Given the description of an element on the screen output the (x, y) to click on. 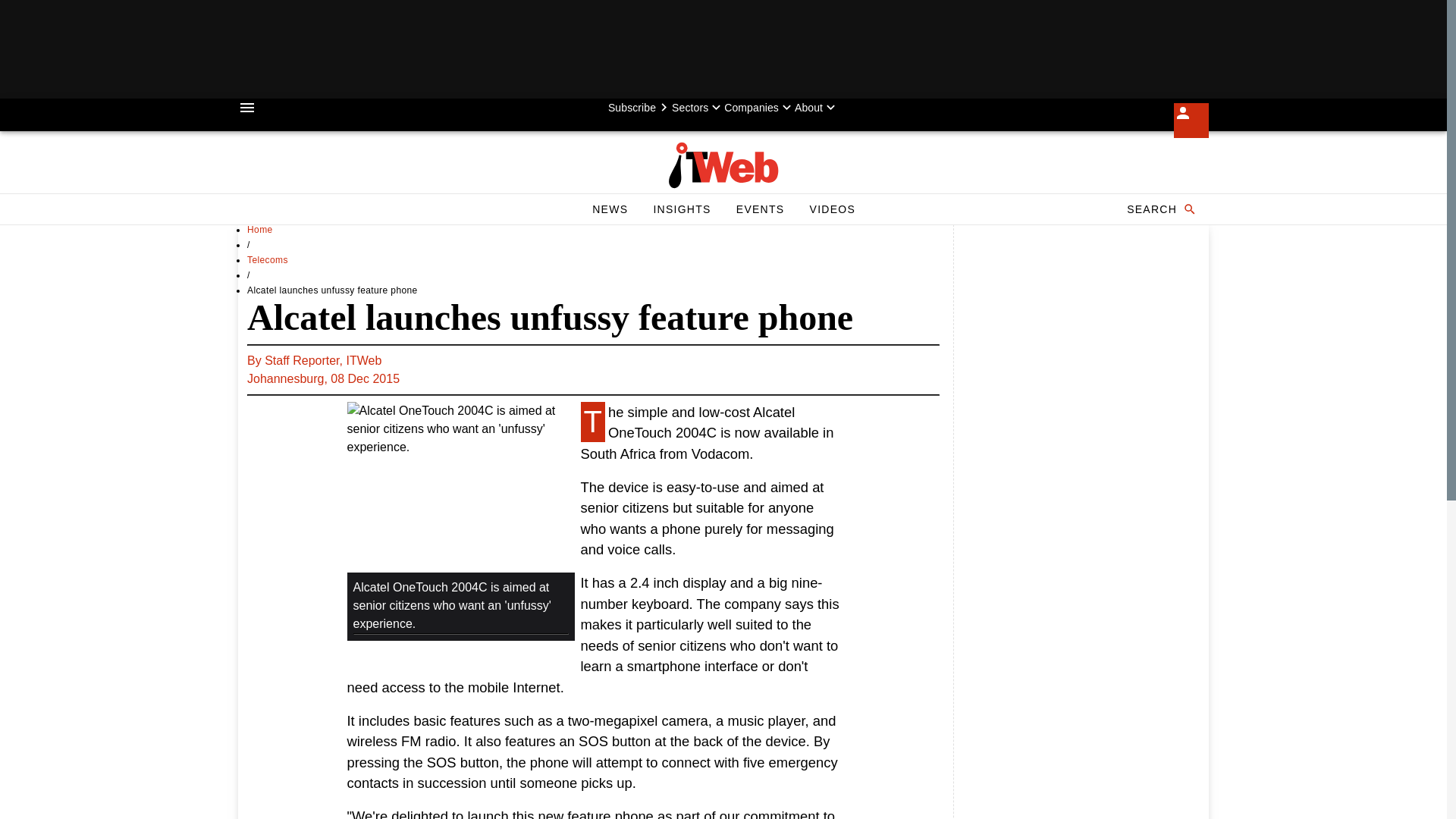
Subscribe (593, 370)
EVENTS (639, 107)
NEWS (759, 208)
INSIGHTS (609, 208)
SEARCH (681, 208)
VIDEOS (1160, 209)
Telecoms (831, 208)
Home (267, 259)
